Given the description of an element on the screen output the (x, y) to click on. 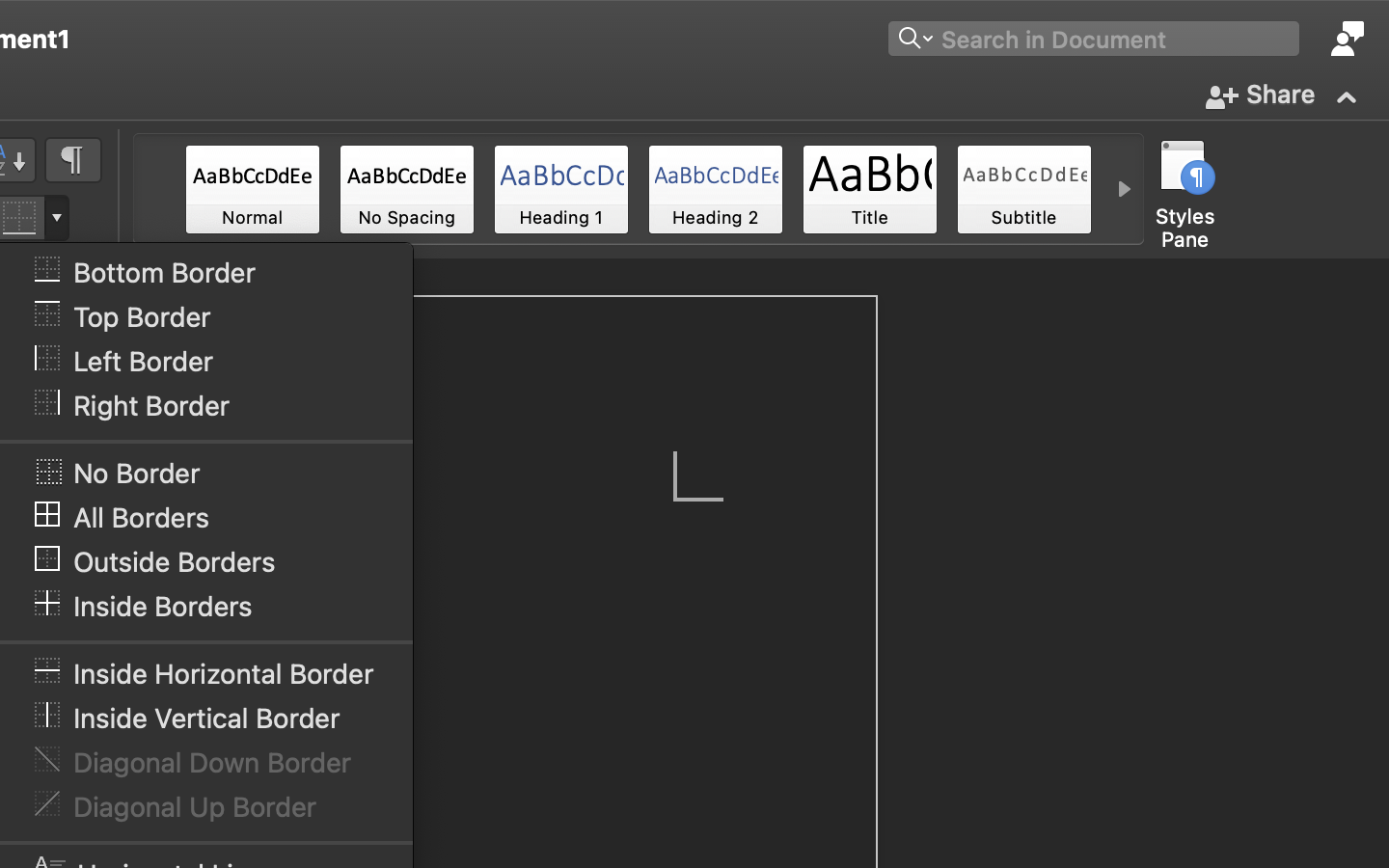
0 Element type: AXRadioButton (252, 188)
0 Element type: AXButton (1346, 38)
